Given the description of an element on the screen output the (x, y) to click on. 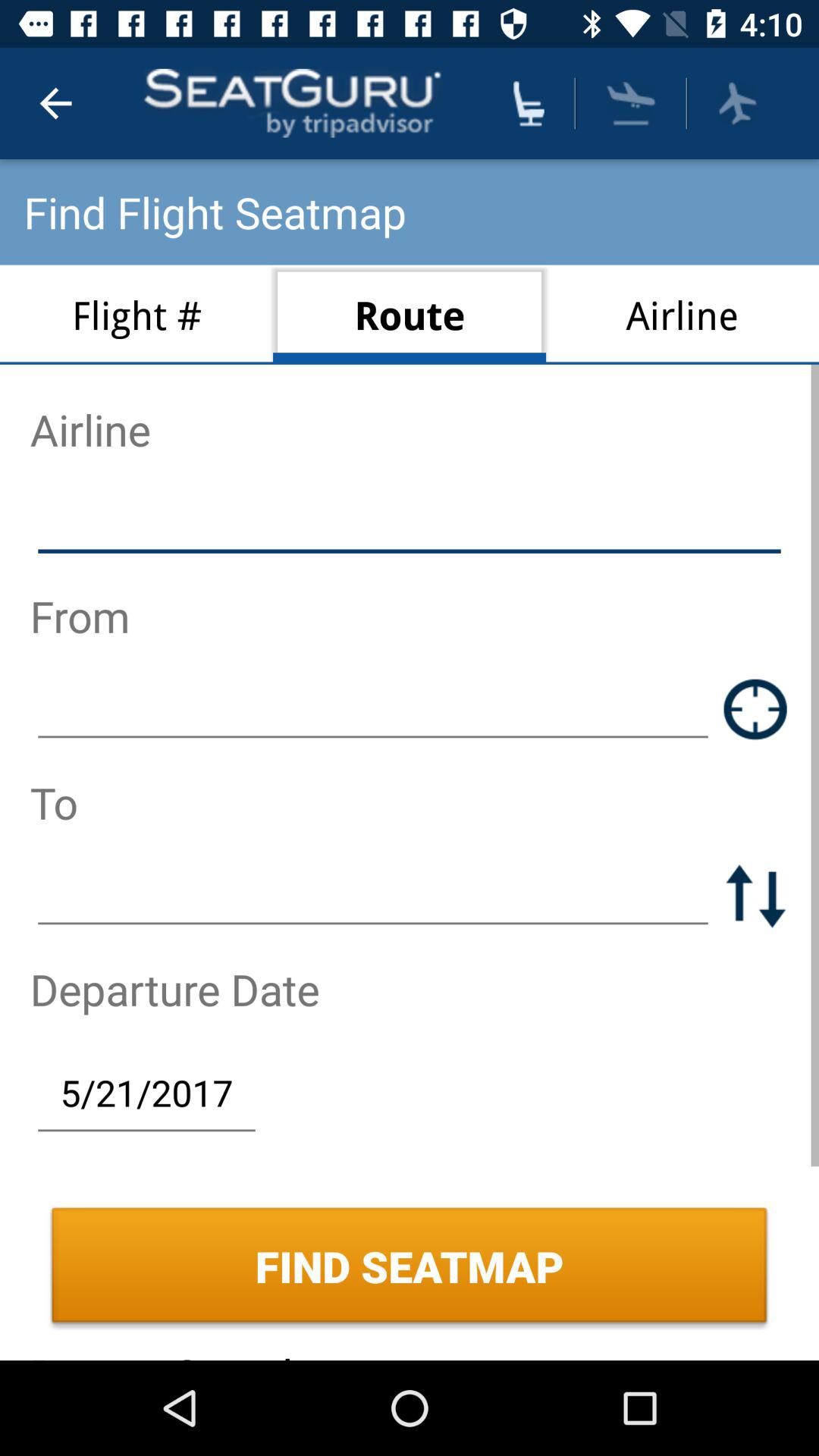
tap icon to the left of airline item (409, 314)
